Given the description of an element on the screen output the (x, y) to click on. 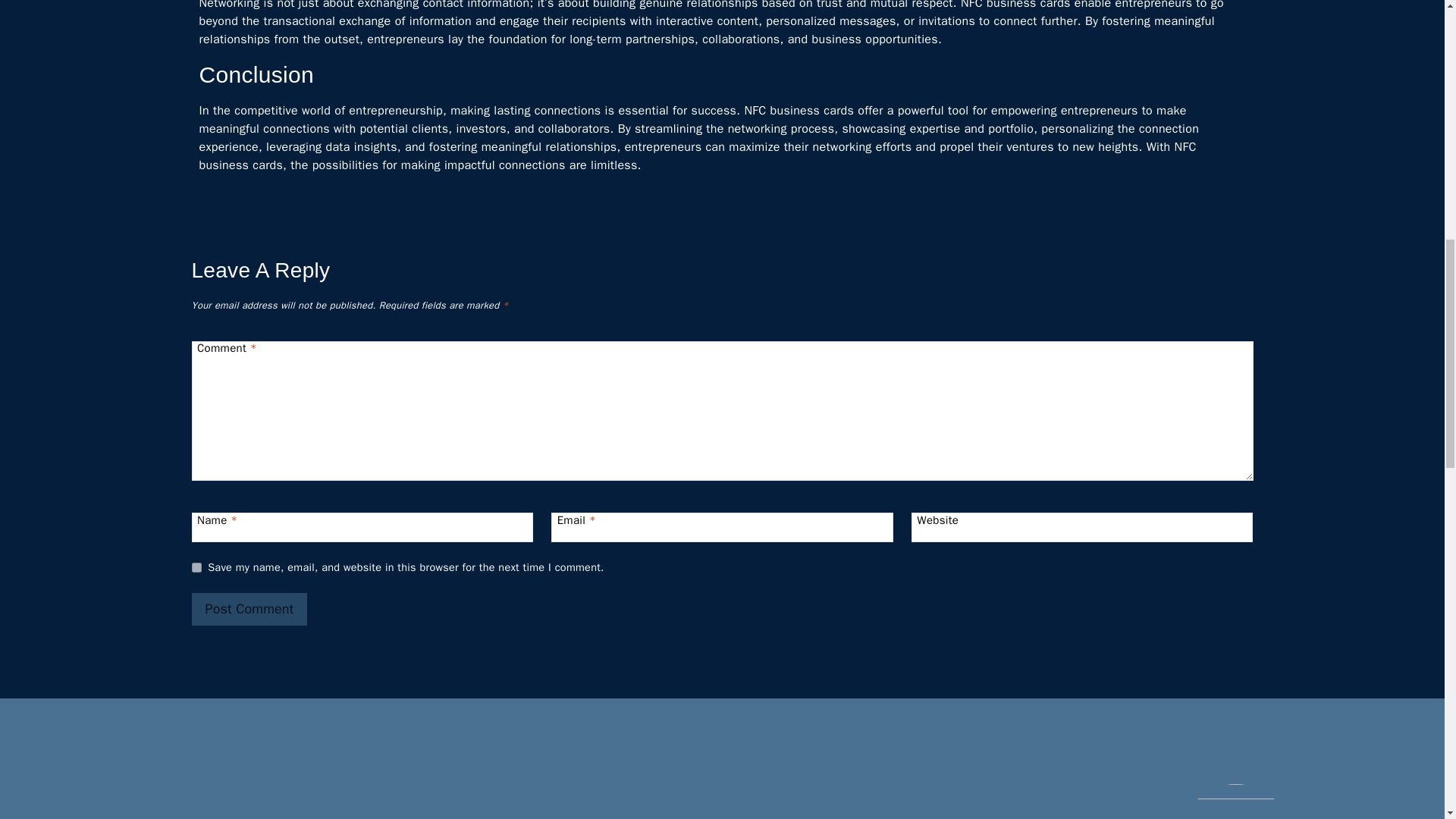
Post Comment (248, 608)
yes (195, 567)
Post Comment (248, 608)
